Given the description of an element on the screen output the (x, y) to click on. 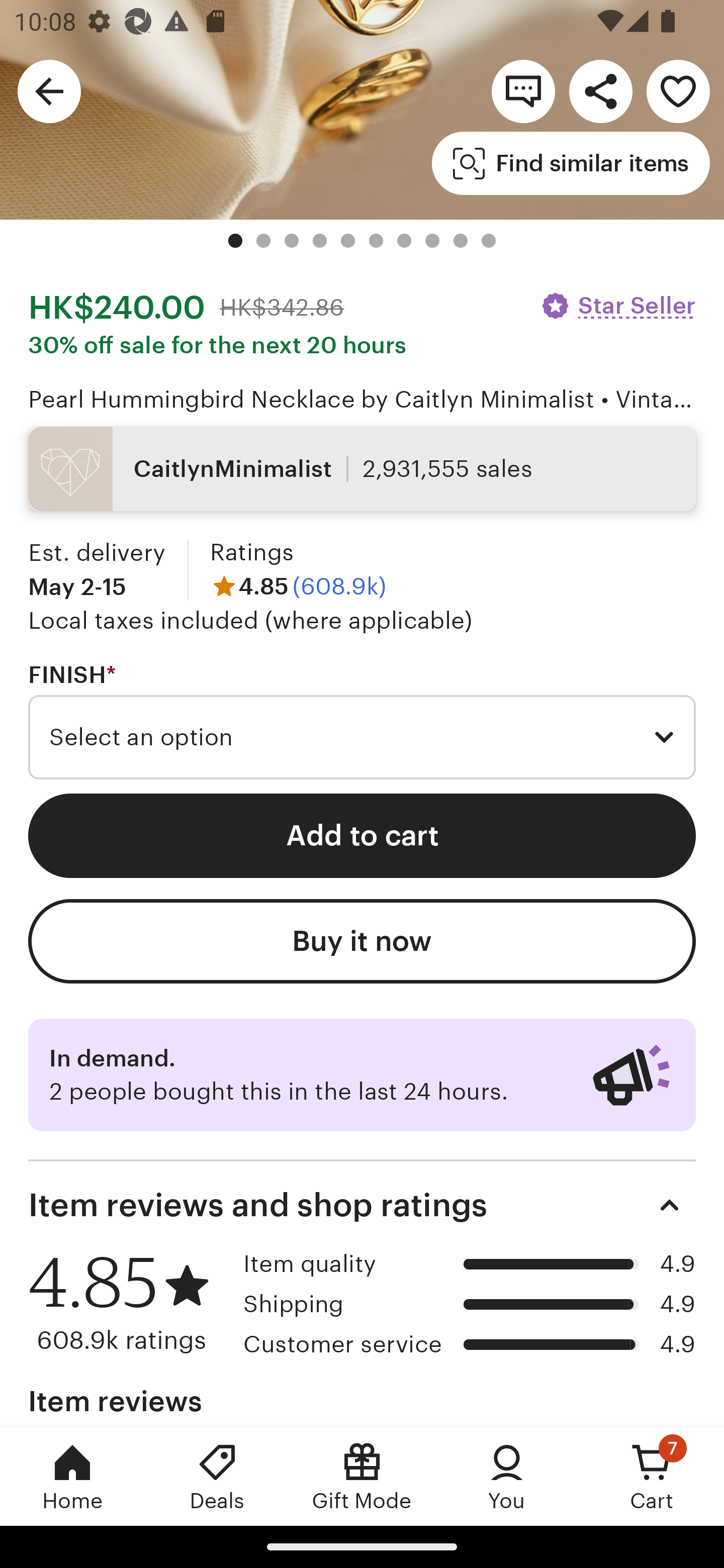
Navigate up (49, 90)
Contact shop (523, 90)
Share (600, 90)
Find similar items (571, 162)
Star Seller (617, 305)
CaitlynMinimalist 2,931,555 sales (361, 468)
Ratings (251, 552)
4.85 (608.9k) (297, 586)
FINISH * Required Select an option (361, 720)
Select an option (361, 736)
Add to cart (361, 835)
Buy it now (361, 940)
Item reviews and shop ratings (362, 1204)
4.85 608.9k ratings (128, 1302)
Deals (216, 1475)
Gift Mode (361, 1475)
You (506, 1475)
Cart, 7 new notifications Cart (651, 1475)
